Given the description of an element on the screen output the (x, y) to click on. 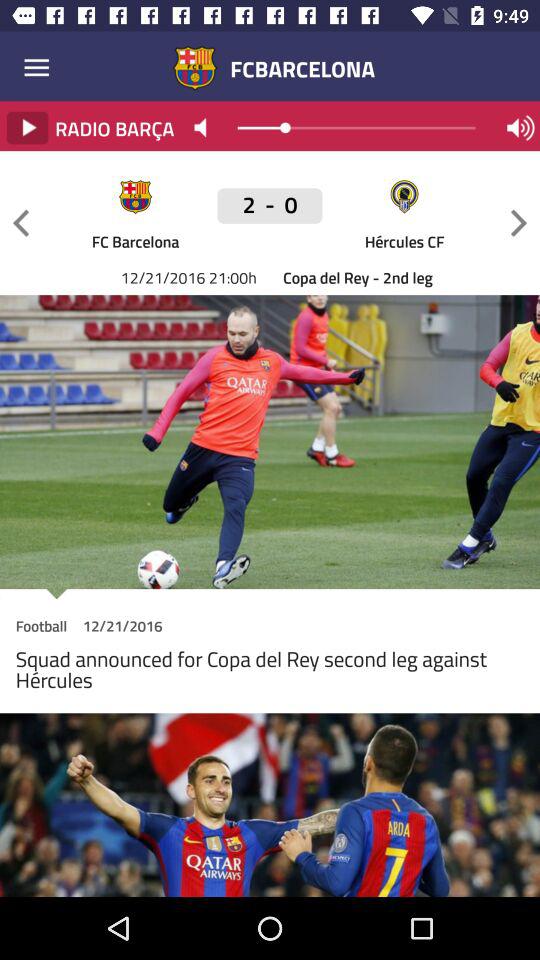
turn on the icon above copa del rey icon (135, 240)
